Given the description of an element on the screen output the (x, y) to click on. 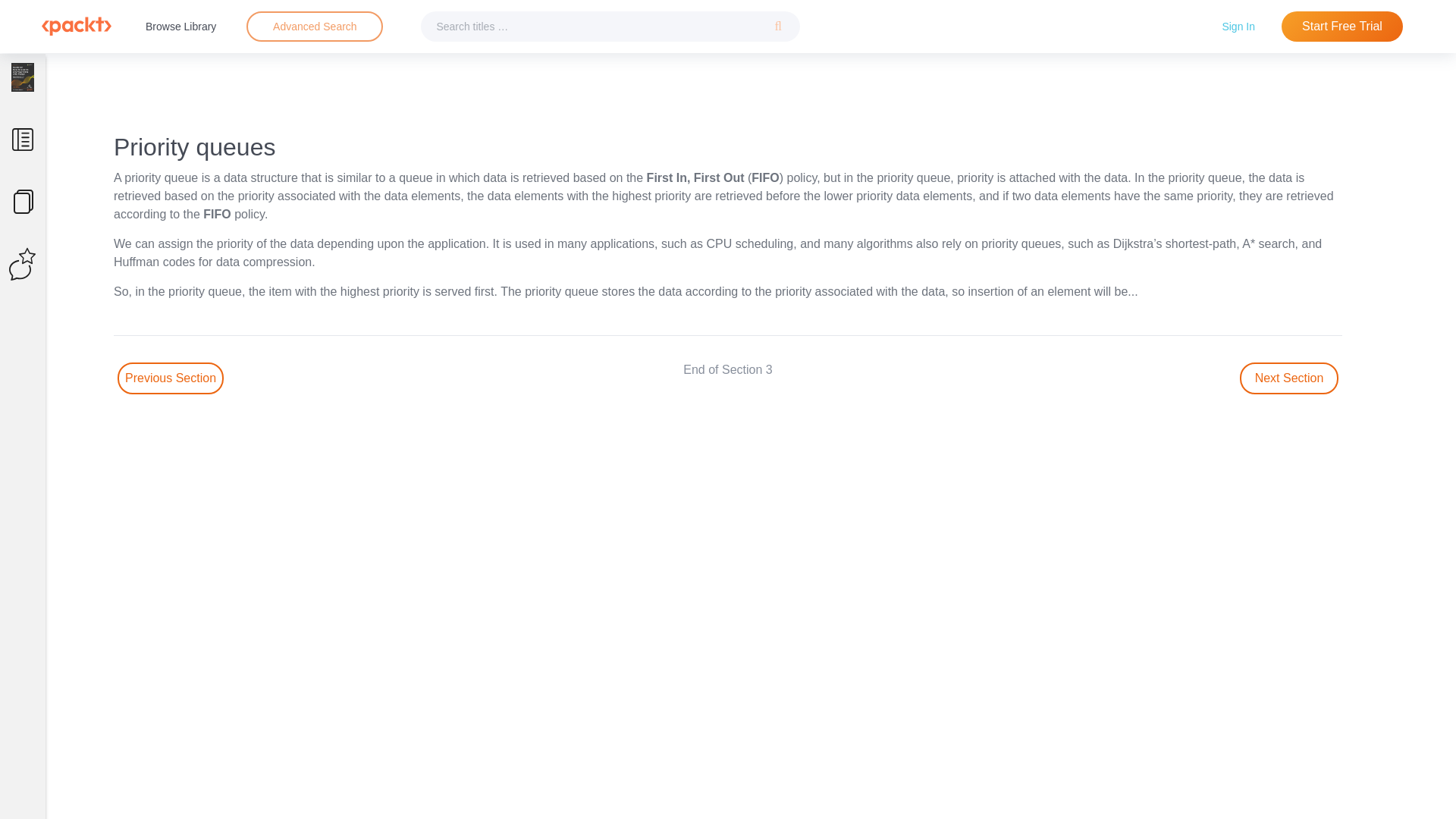
Sign In (1238, 26)
Start Free Trial (1342, 26)
Advanced Search (315, 26)
Browse Library (180, 26)
Advanced search (314, 26)
Go to next section (1289, 377)
Go to Previous section (170, 377)
Advanced Search (314, 26)
